Given the description of an element on the screen output the (x, y) to click on. 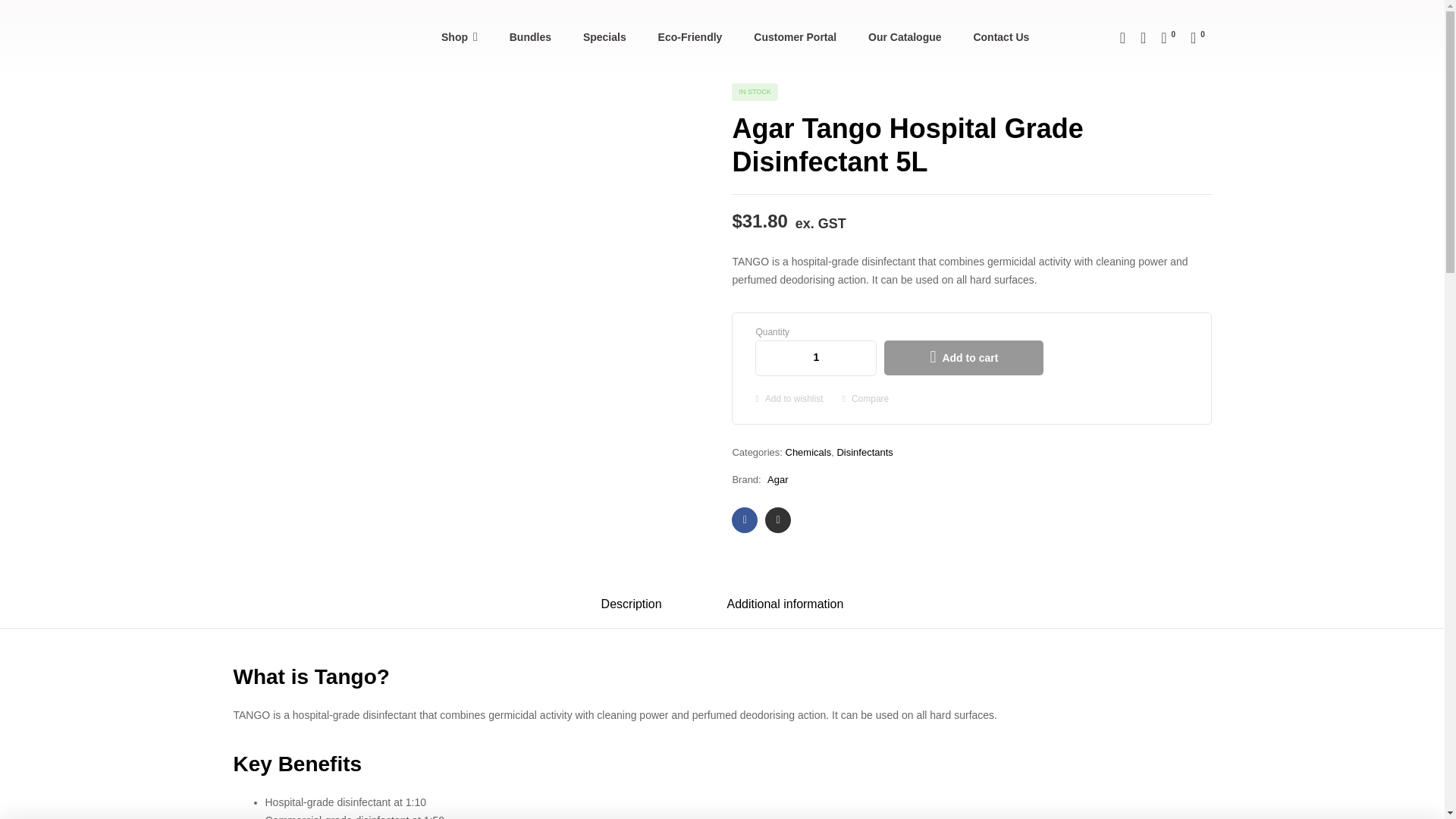
Shop (459, 37)
View brand (777, 479)
Email to a Friend (777, 519)
1 (815, 357)
Qty (815, 357)
Share on facebook (744, 519)
